Given the description of an element on the screen output the (x, y) to click on. 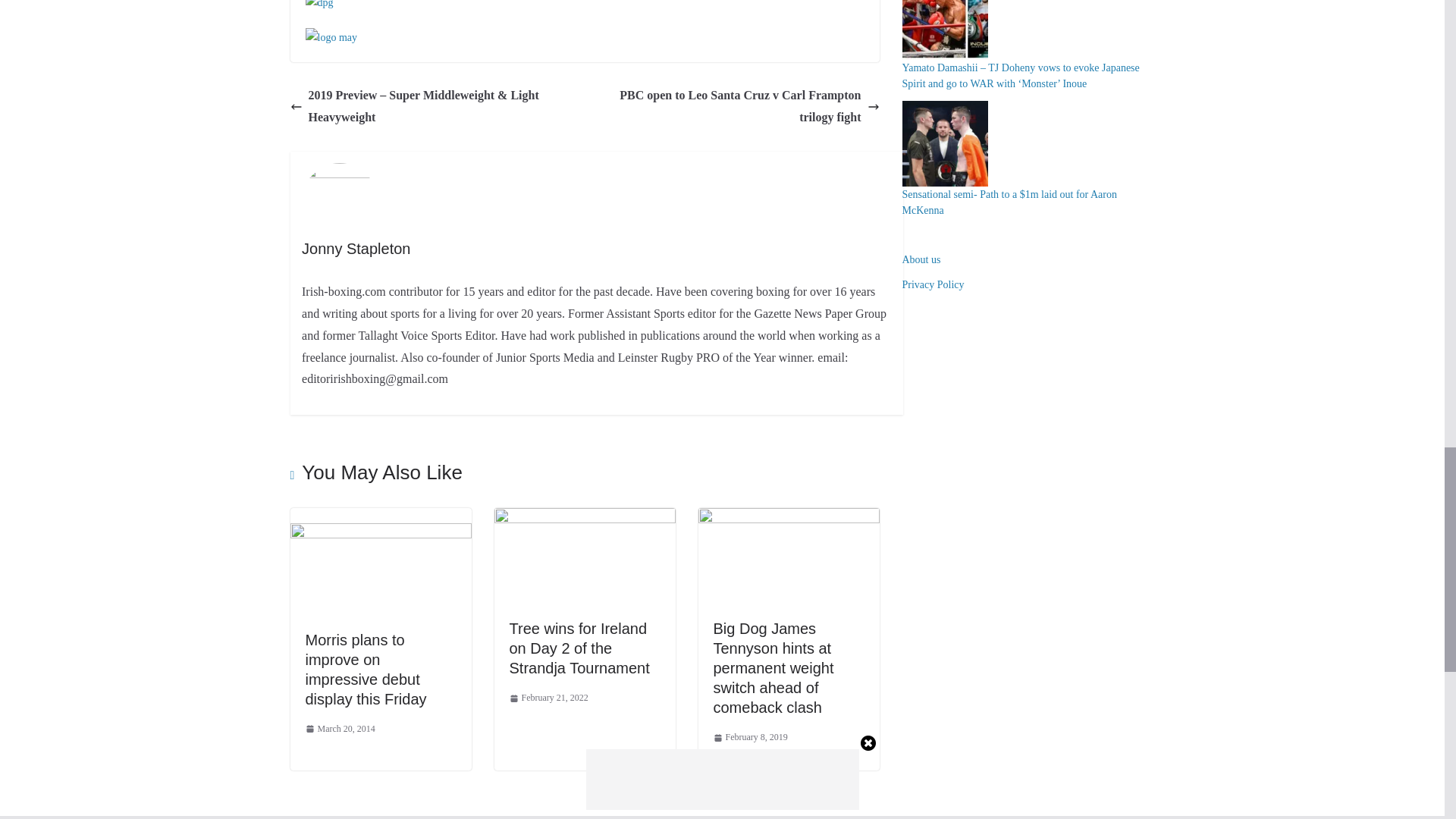
Tree wins for Ireland on Day 2 of the Strandja Tournament (585, 517)
February 21, 2022 (548, 698)
Tree wins for Ireland on Day 2 of the Strandja Tournament (579, 647)
Tree wins for Ireland on Day 2 of the Strandja Tournament (579, 647)
4:16 pm (750, 737)
11:05 pm (548, 698)
February 8, 2019 (750, 737)
10:48 pm (339, 729)
PBC open to Leo Santa Cruz v Carl Frampton trilogy fight (735, 106)
